Given the description of an element on the screen output the (x, y) to click on. 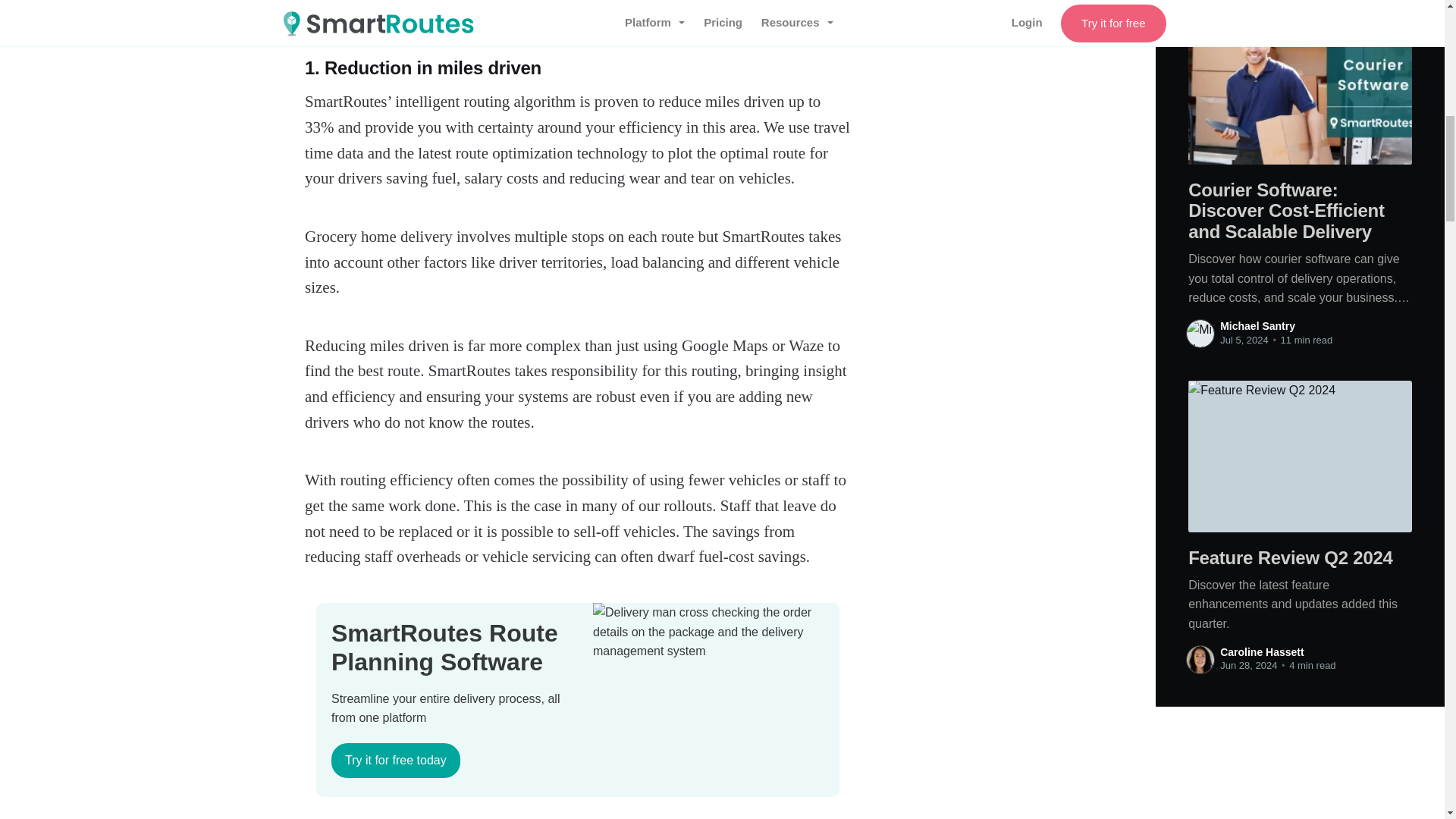
Try it for free today (395, 760)
Michael Santry (1257, 326)
Caroline Hassett (1261, 652)
